Given the description of an element on the screen output the (x, y) to click on. 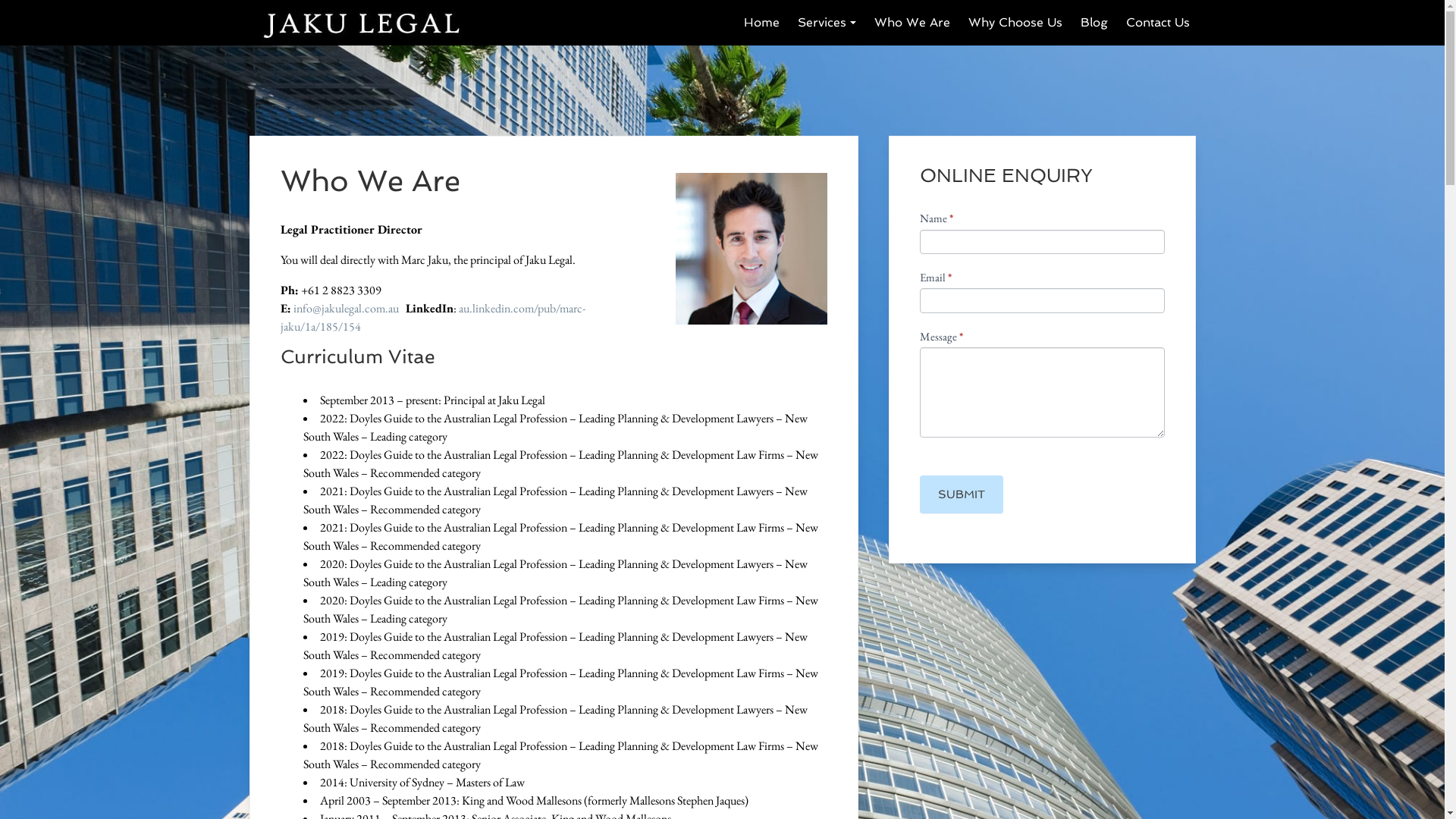
au.linkedin.com/pub/marc-jaku/1a/185/154 Element type: text (432, 317)
Services Element type: text (826, 22)
Contact Us Element type: text (1157, 22)
Blog Element type: text (1093, 22)
Why Choose Us Element type: text (1014, 22)
SUBMIT Element type: text (961, 494)
info@jakulegal.com.au Element type: text (345, 308)
Who We Are Element type: text (911, 22)
Home Element type: text (761, 22)
